Given the description of an element on the screen output the (x, y) to click on. 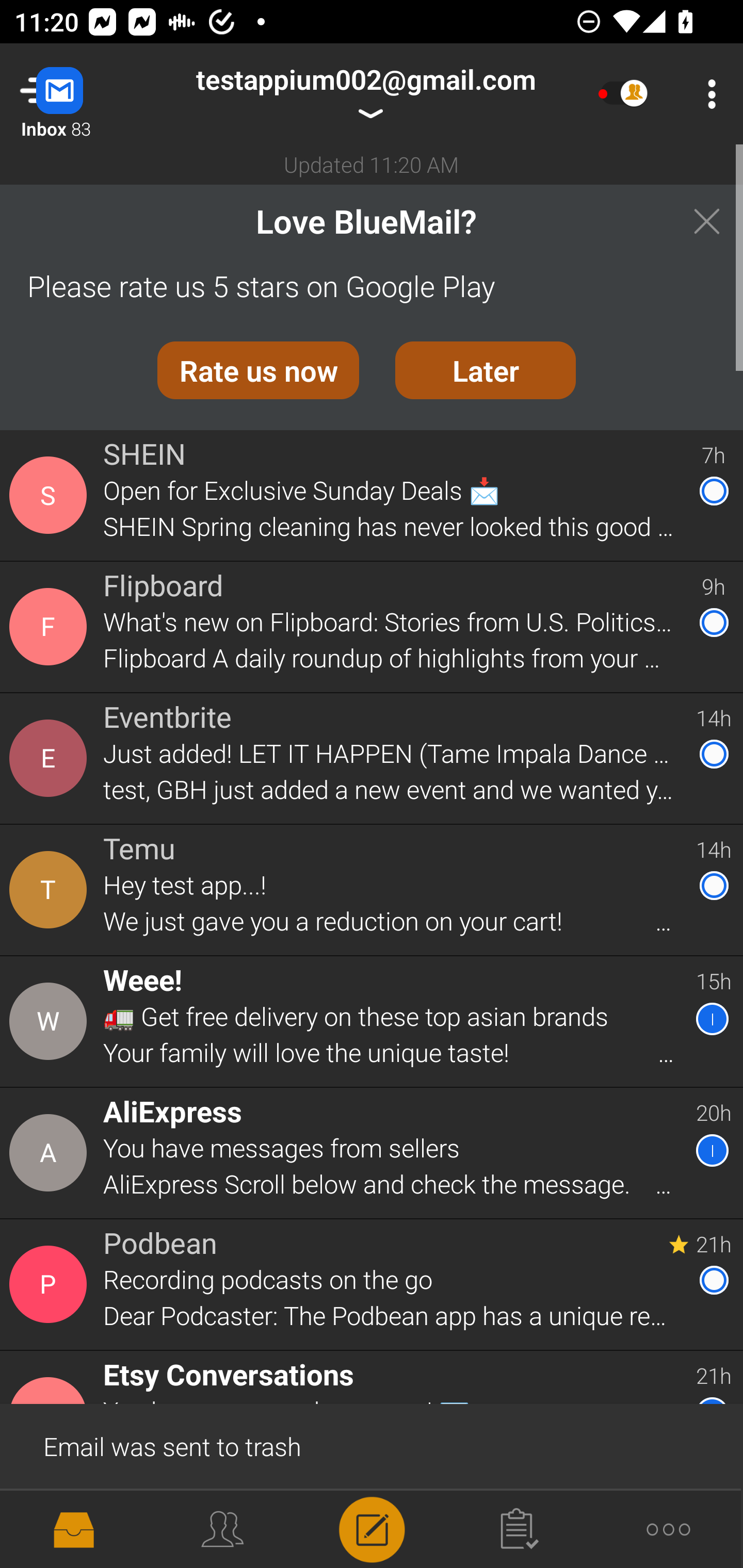
Navigate up (81, 93)
testappium002@gmail.com (365, 93)
More Options (706, 93)
Updated 11:20 AM (371, 164)
Rate us now (257, 370)
Later (485, 370)
Contact Details (50, 495)
Contact Details (50, 626)
Contact Details (50, 758)
Contact Details (50, 889)
Contact Details (50, 1021)
Contact Details (50, 1153)
Contact Details (50, 1284)
Email was sent to trash (371, 1445)
Contact Details (50, 1524)
Compose (371, 1528)
